Given the description of an element on the screen output the (x, y) to click on. 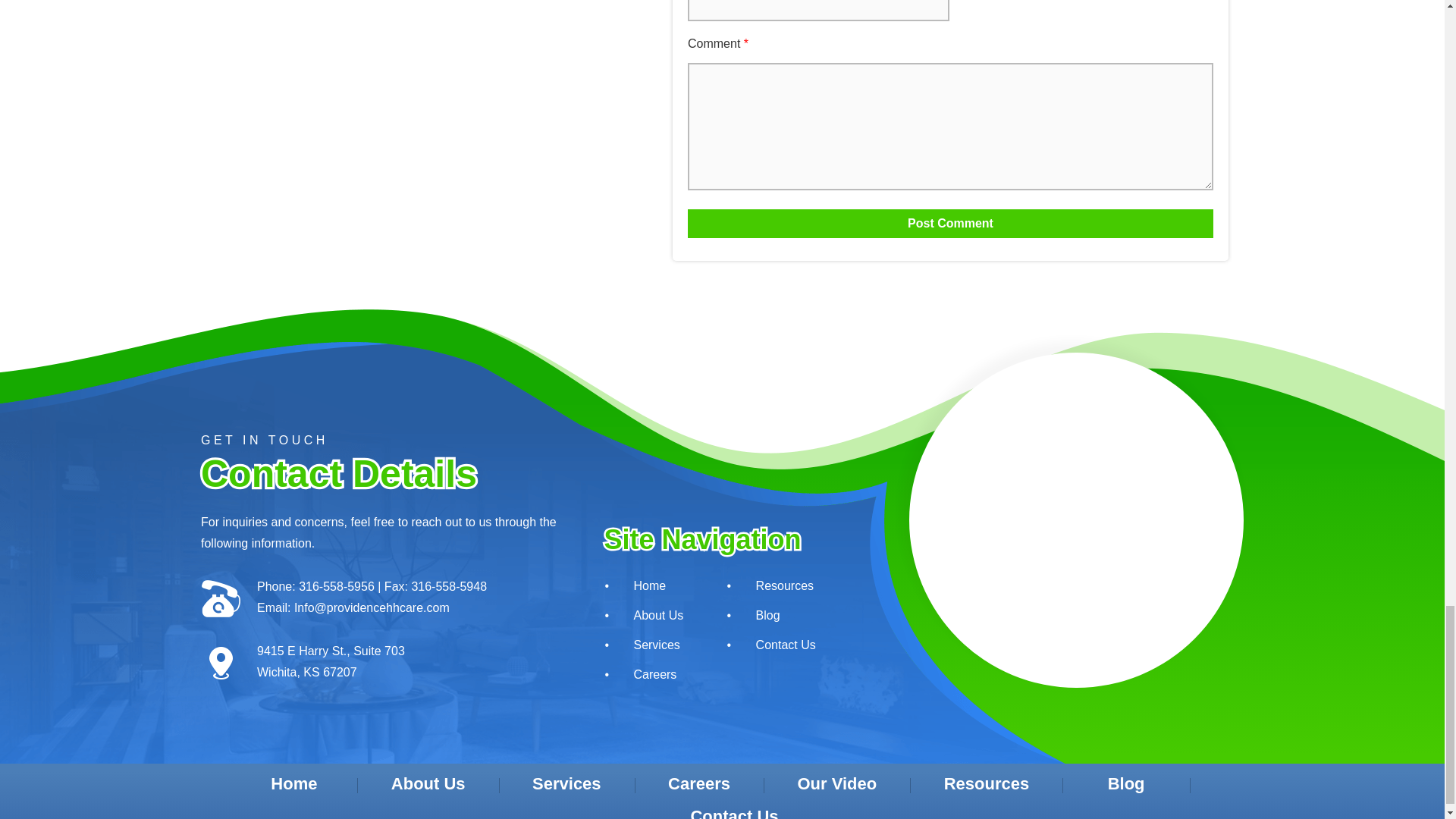
Services (648, 644)
Home (648, 584)
Site Navigation (709, 539)
Post Comment (949, 223)
Post Comment (949, 223)
Contact Details (378, 474)
About Us (648, 614)
